Given the description of an element on the screen output the (x, y) to click on. 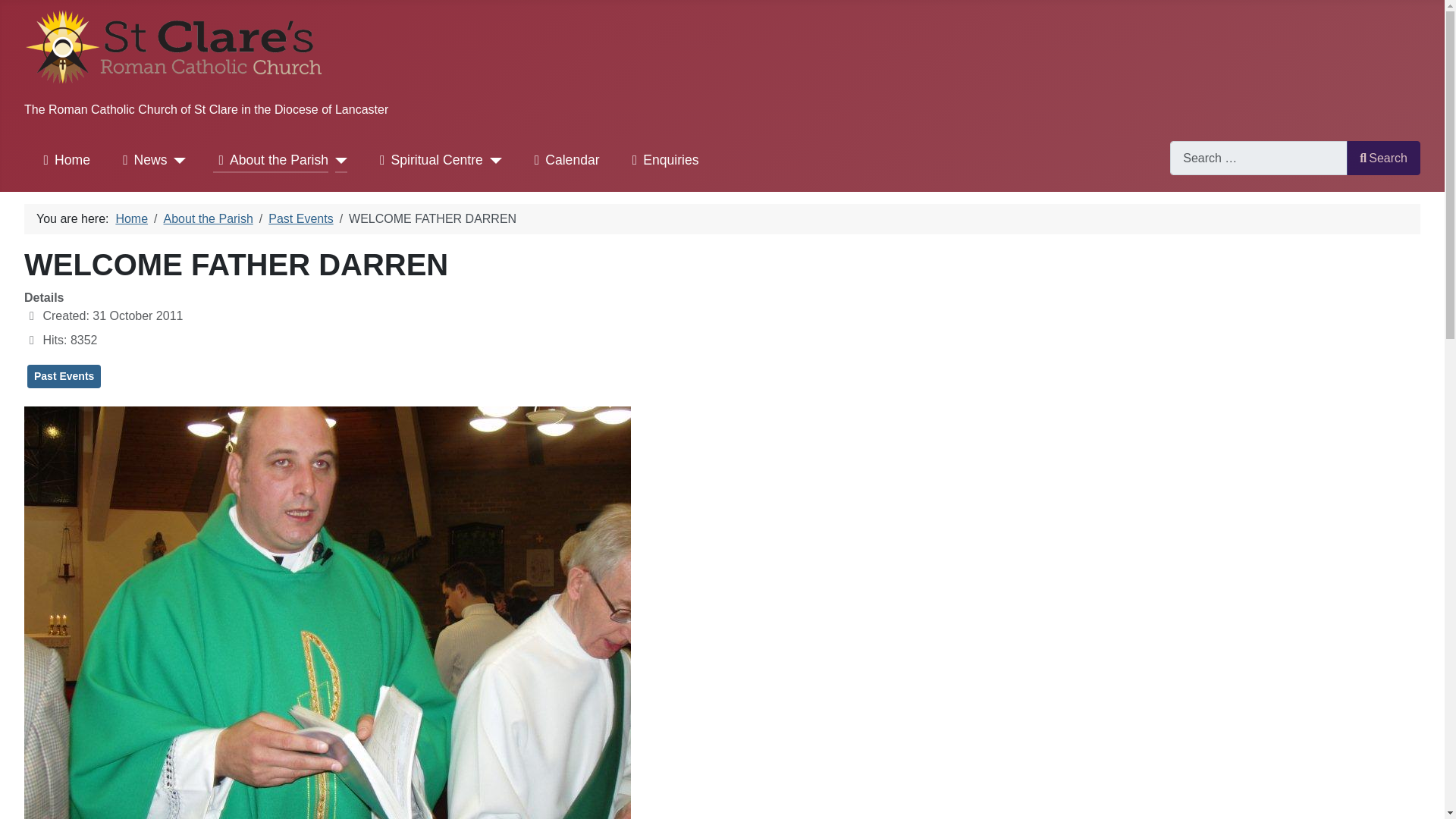
Enquiries (662, 160)
News (141, 160)
Past Events (63, 376)
Spiritual Centre (428, 160)
Calendar (563, 160)
Search (1383, 157)
About the Parish (208, 218)
Past Events (300, 218)
Home (63, 160)
About the Parish (270, 160)
